Given the description of an element on the screen output the (x, y) to click on. 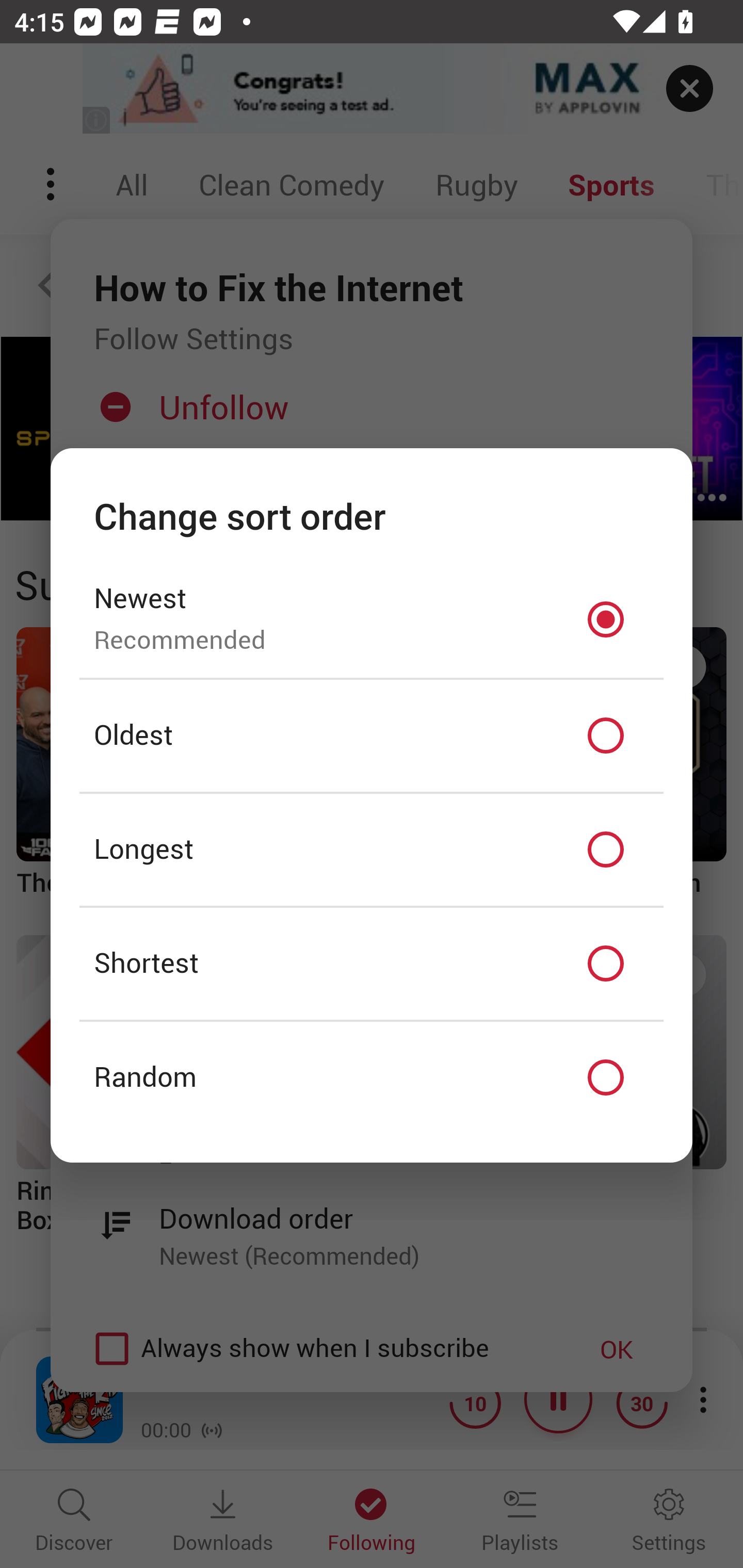
Newest Recommended (371, 619)
Oldest (371, 735)
Longest (371, 849)
Shortest (371, 963)
Random (371, 1077)
